Given the description of an element on the screen output the (x, y) to click on. 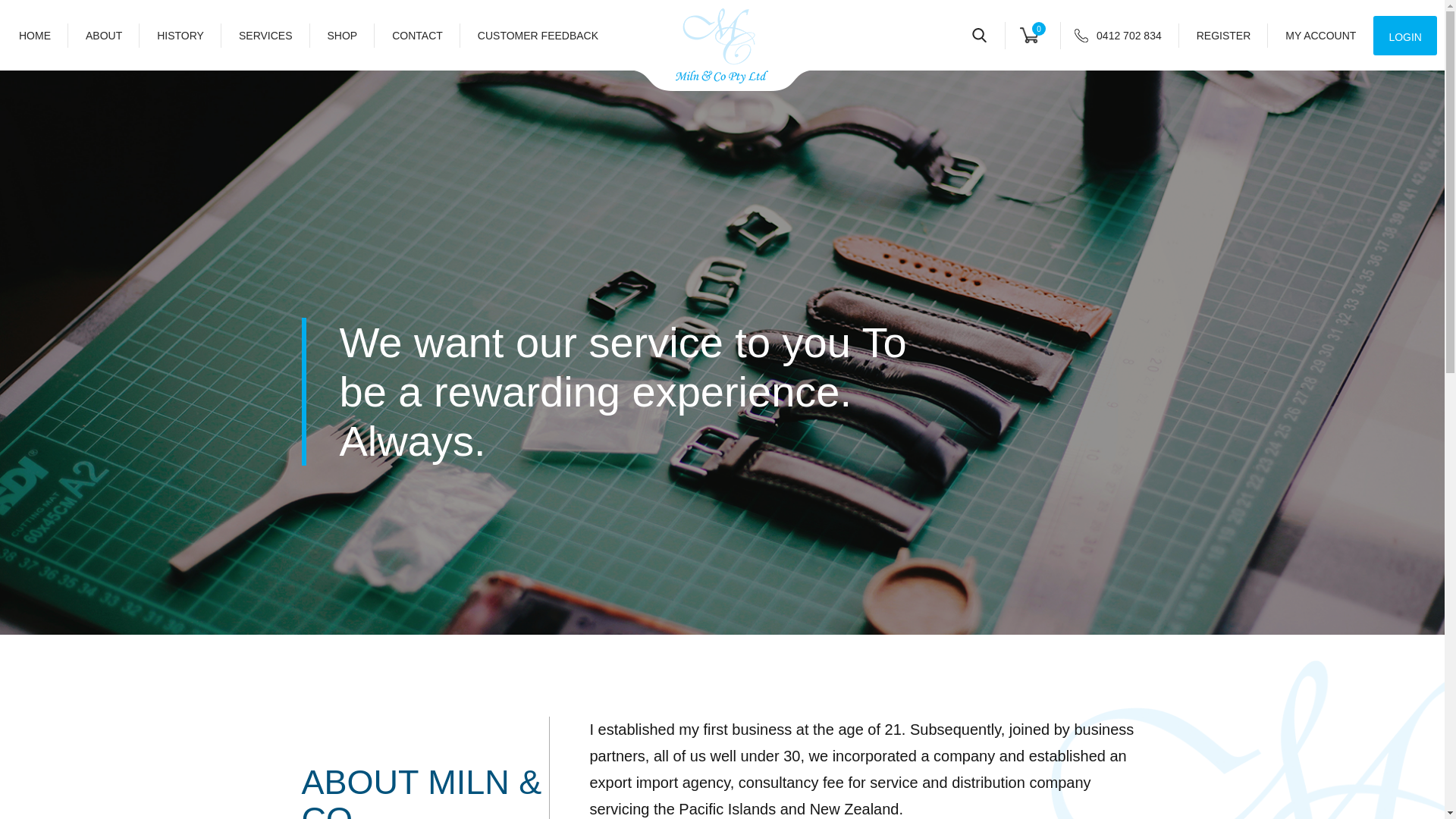
MY ACCOUNT (1320, 35)
SERVICES (265, 35)
CONTACT (417, 35)
HISTORY (180, 35)
CUSTOMER FEEDBACK (537, 35)
0412 702 834 (1126, 35)
REGISTER (1223, 35)
HOME (43, 35)
ABOUT (103, 35)
SHOP (342, 35)
